Given the description of an element on the screen output the (x, y) to click on. 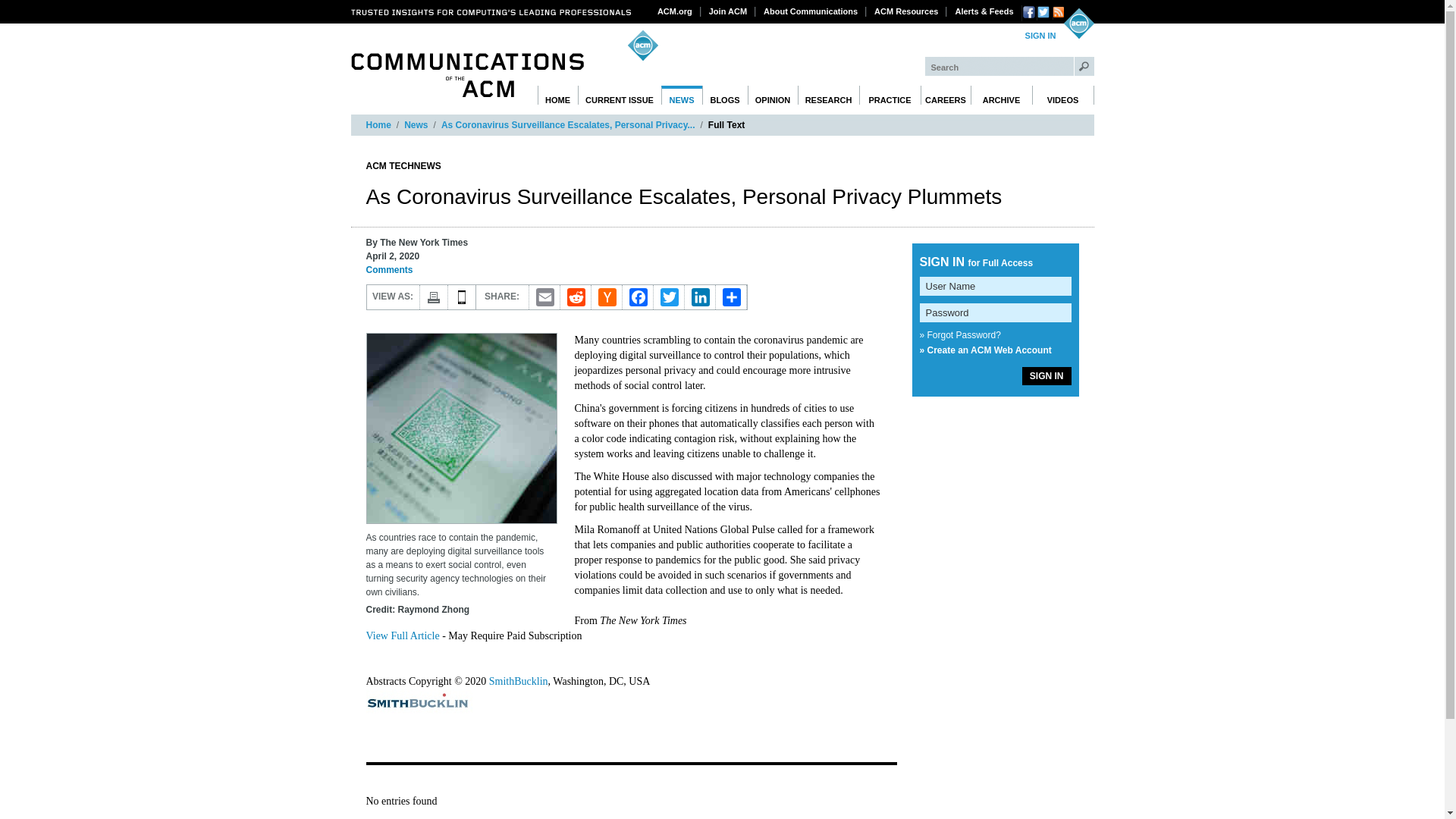
RESEARCH (828, 94)
MOBILE APPS (461, 297)
BLOGS (724, 94)
OPINION (772, 94)
Communications of the ACM (466, 75)
HOME (557, 94)
Join ACM (727, 11)
About Communications (810, 11)
ACM (1077, 23)
Print (434, 297)
